Given the description of an element on the screen output the (x, y) to click on. 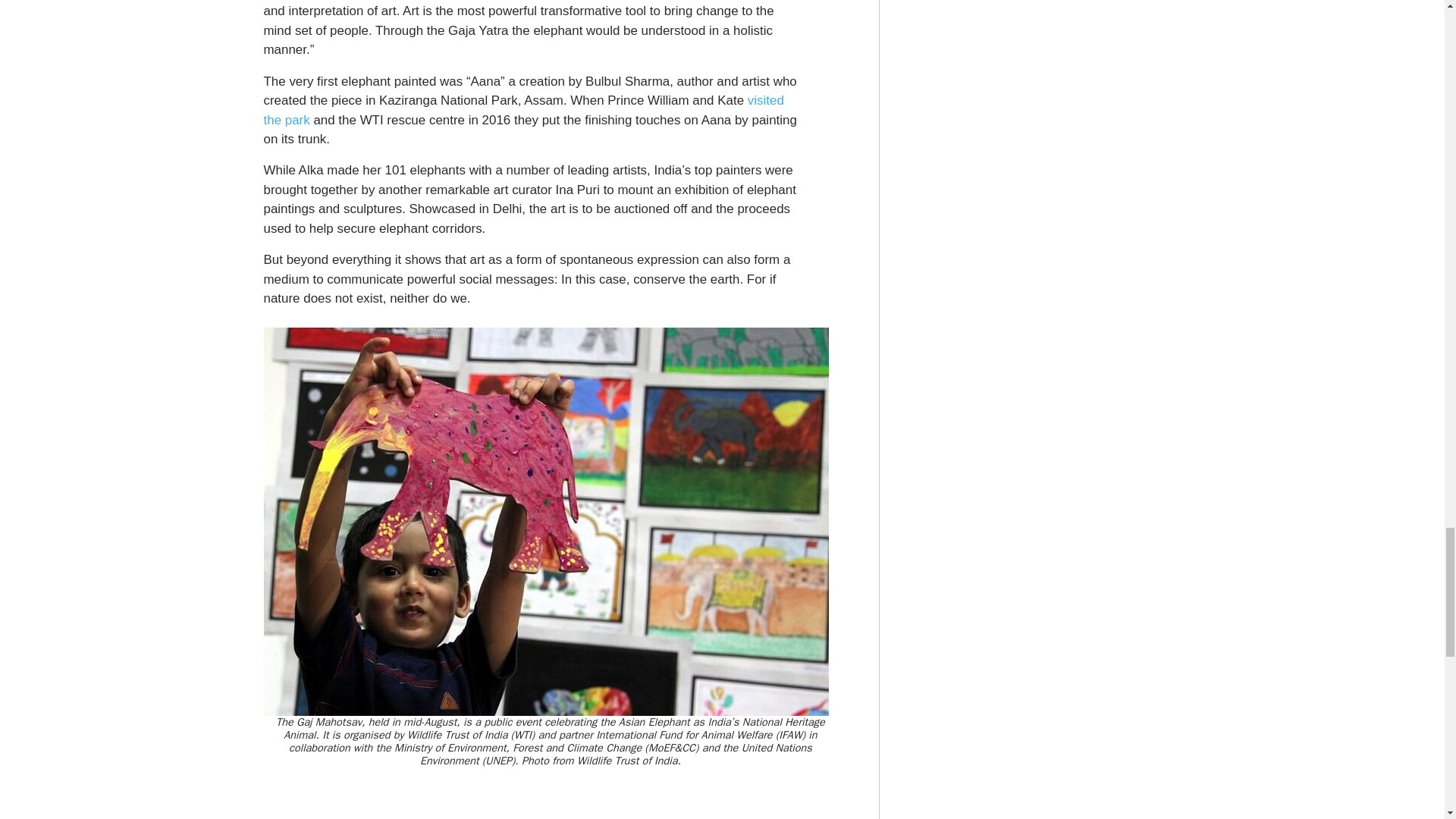
visited the park (523, 109)
